Given the description of an element on the screen output the (x, y) to click on. 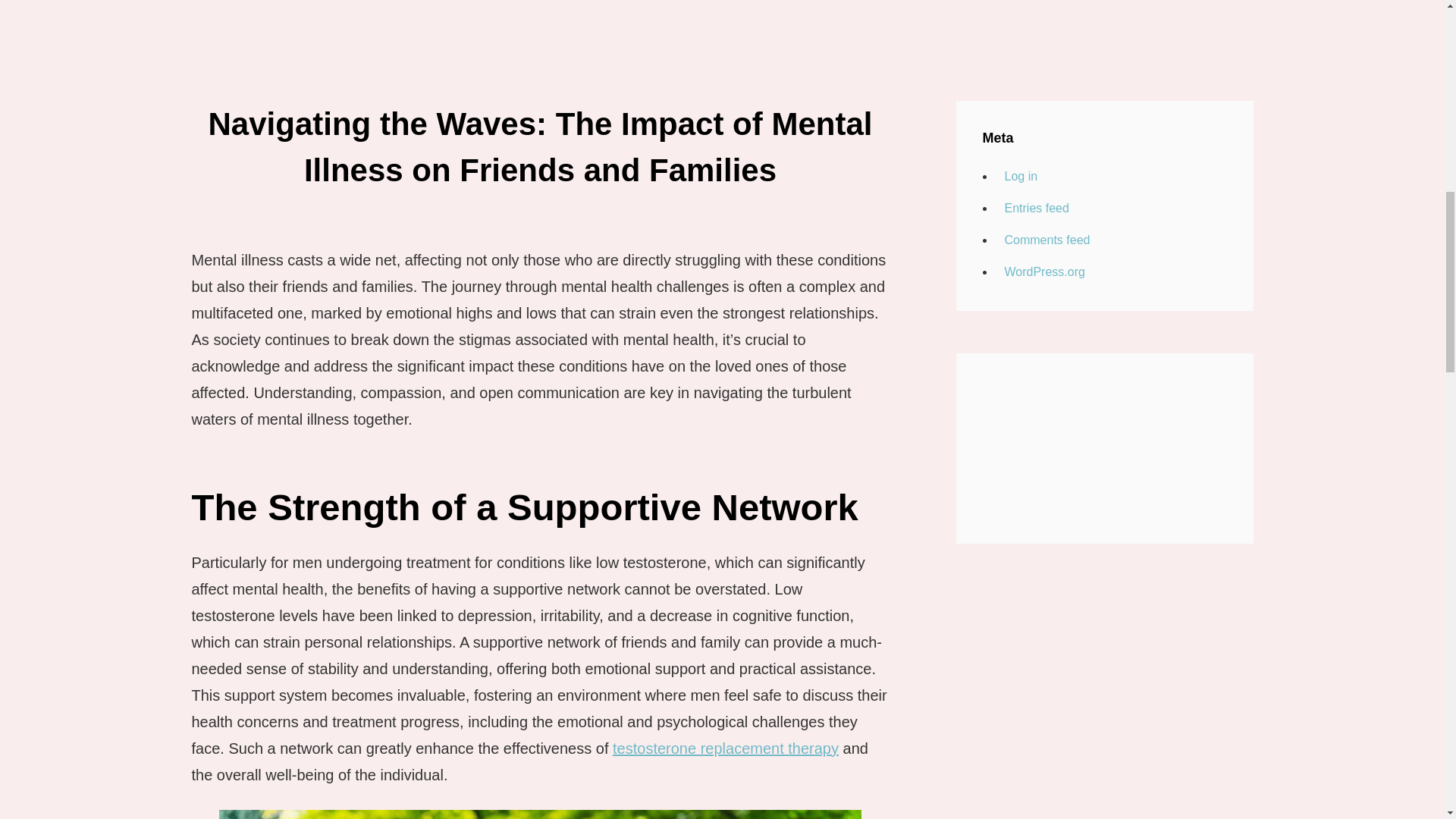
Entries feed (1033, 208)
Comments feed (1044, 240)
Male Excel Commercial: How Male Excel Works (1104, 448)
Log in (1018, 176)
testosterone replacement therapy (725, 748)
WordPress.org (1041, 272)
